Given the description of an element on the screen output the (x, y) to click on. 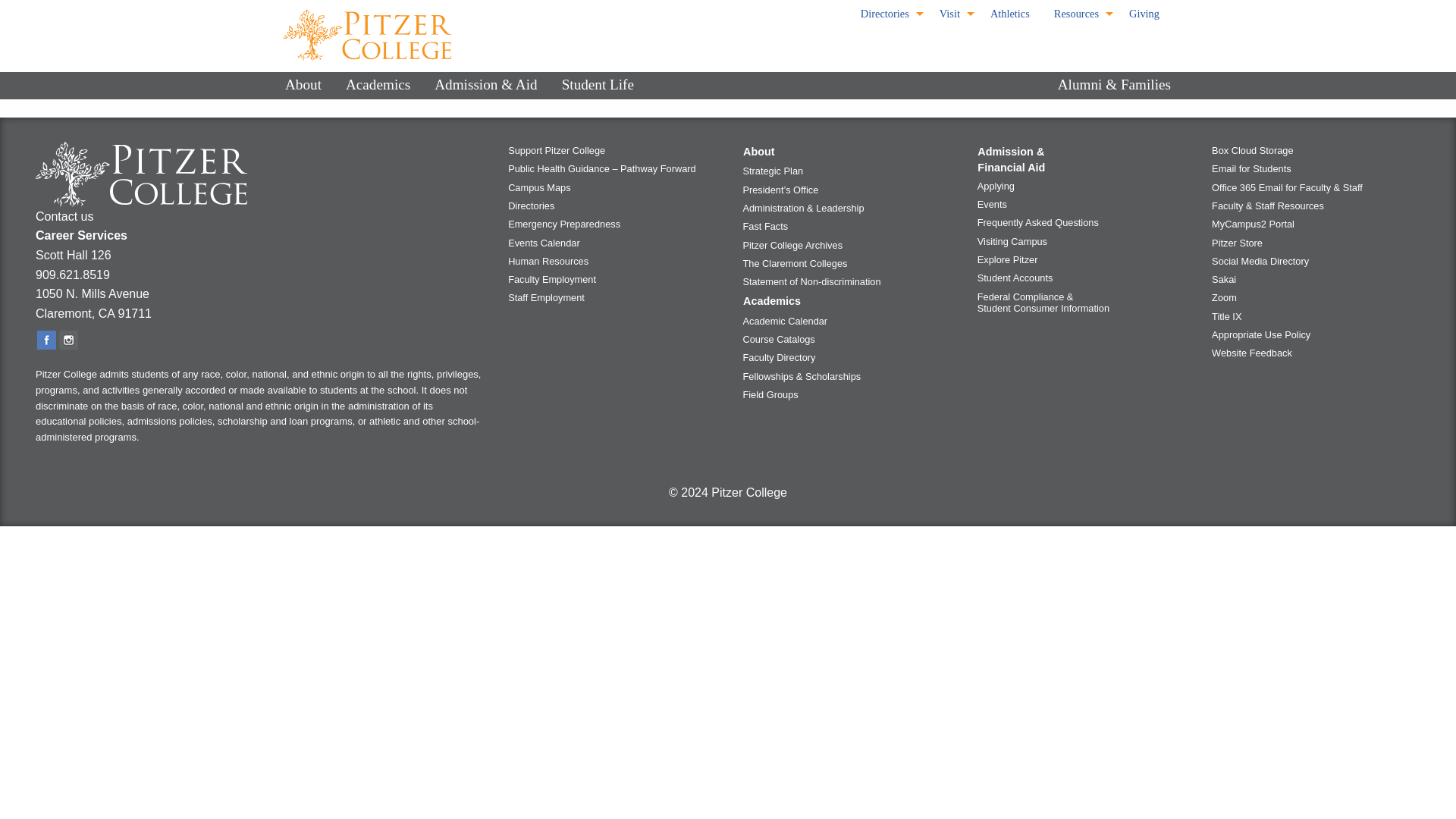
About (303, 85)
Directories (887, 13)
Student Life (598, 85)
Visit (952, 13)
Frequently Asked Questions about Admission to Pitzer (1079, 222)
Resources (1079, 13)
Academics (377, 85)
Giving (1144, 13)
Athletics (1010, 13)
Title Nine (1314, 316)
Admission Events (1079, 204)
